Given the description of an element on the screen output the (x, y) to click on. 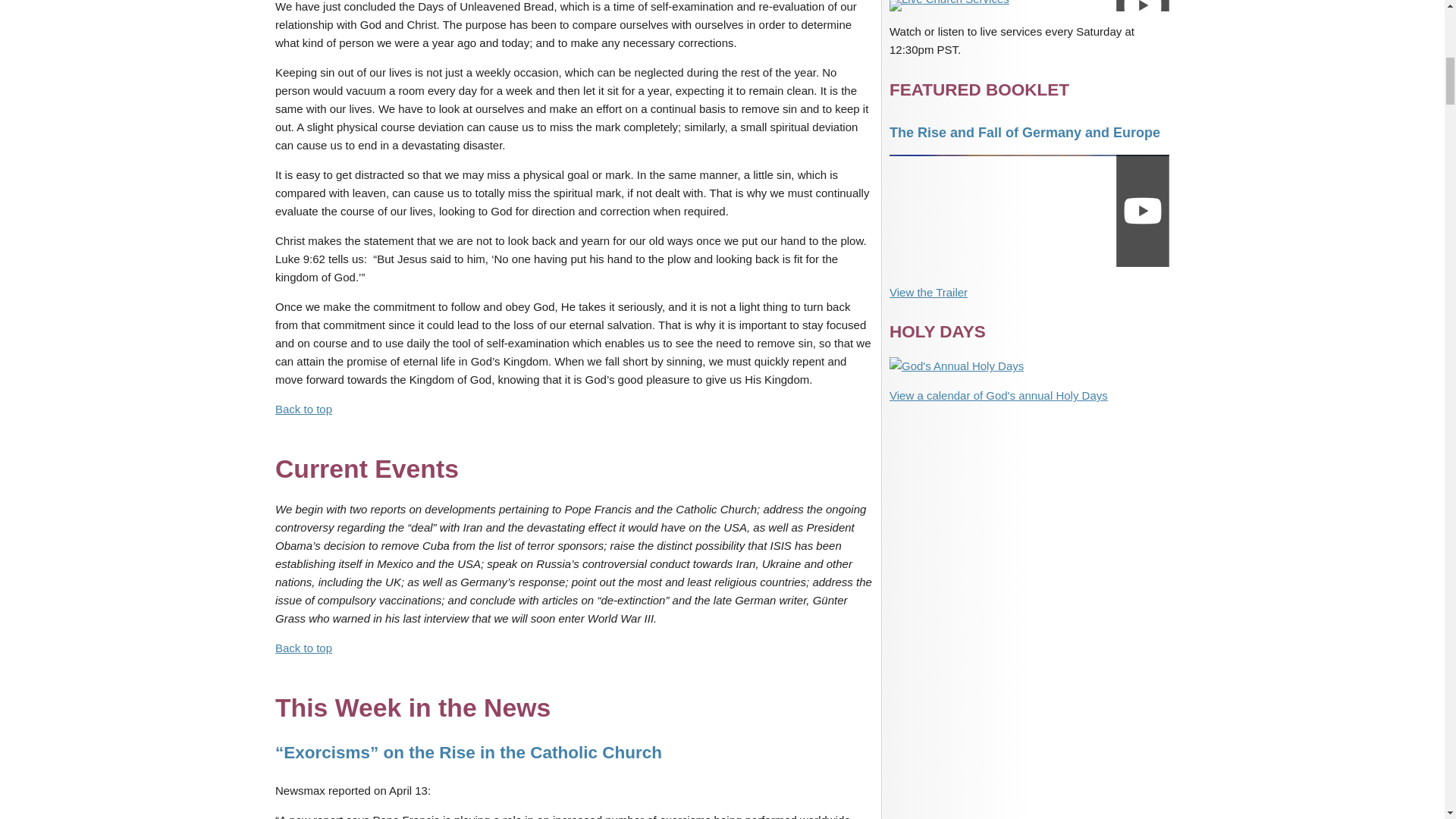
Live Church Services (1029, 5)
God's Annual Holy Days (956, 366)
